Given the description of an element on the screen output the (x, y) to click on. 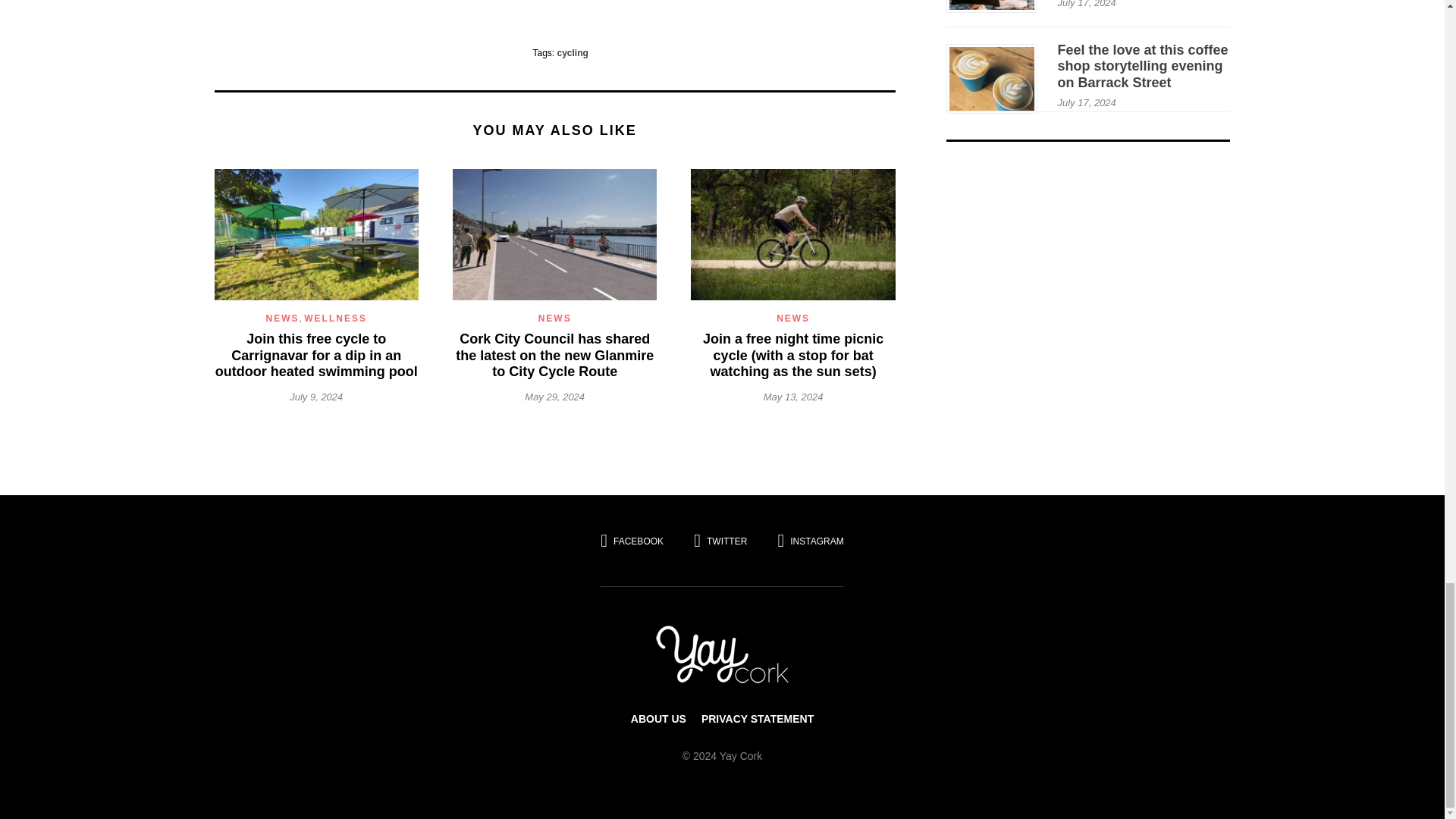
Facebook (638, 540)
Twitter (719, 540)
